Given the description of an element on the screen output the (x, y) to click on. 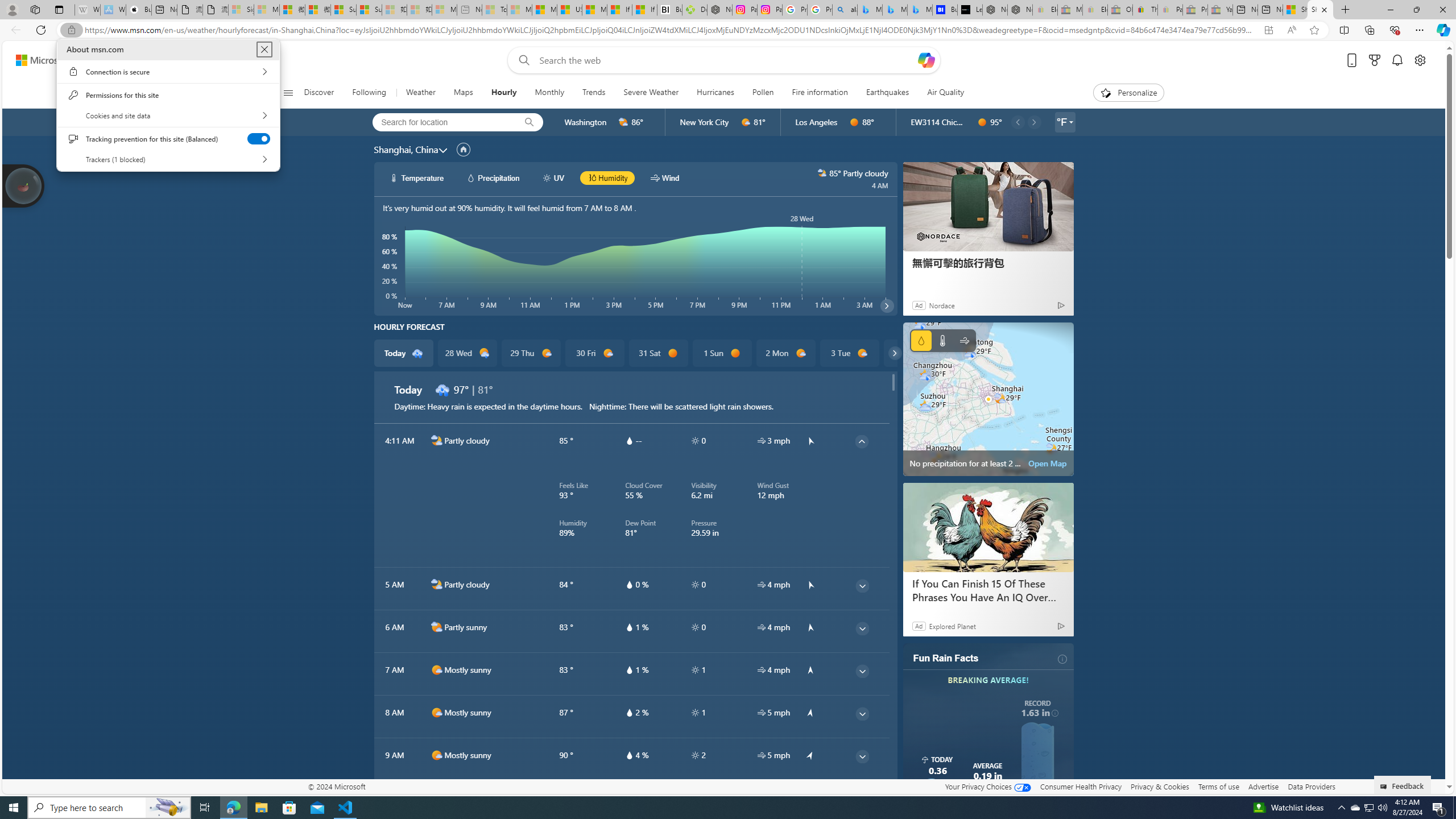
Your Privacy Choices (987, 786)
alabama high school quarterback dies - Search (844, 9)
Press Room - eBay Inc. - Sleeping (1194, 9)
Yard, Garden & Outdoor Living - Sleeping (1219, 9)
Permissions for this site (167, 94)
Hurricanes (715, 92)
Hurricanes (715, 92)
Today d4300 (403, 352)
4 Wed d1000 (913, 352)
common/thinArrow (1355, 807)
d0000 (861, 798)
